Given the description of an element on the screen output the (x, y) to click on. 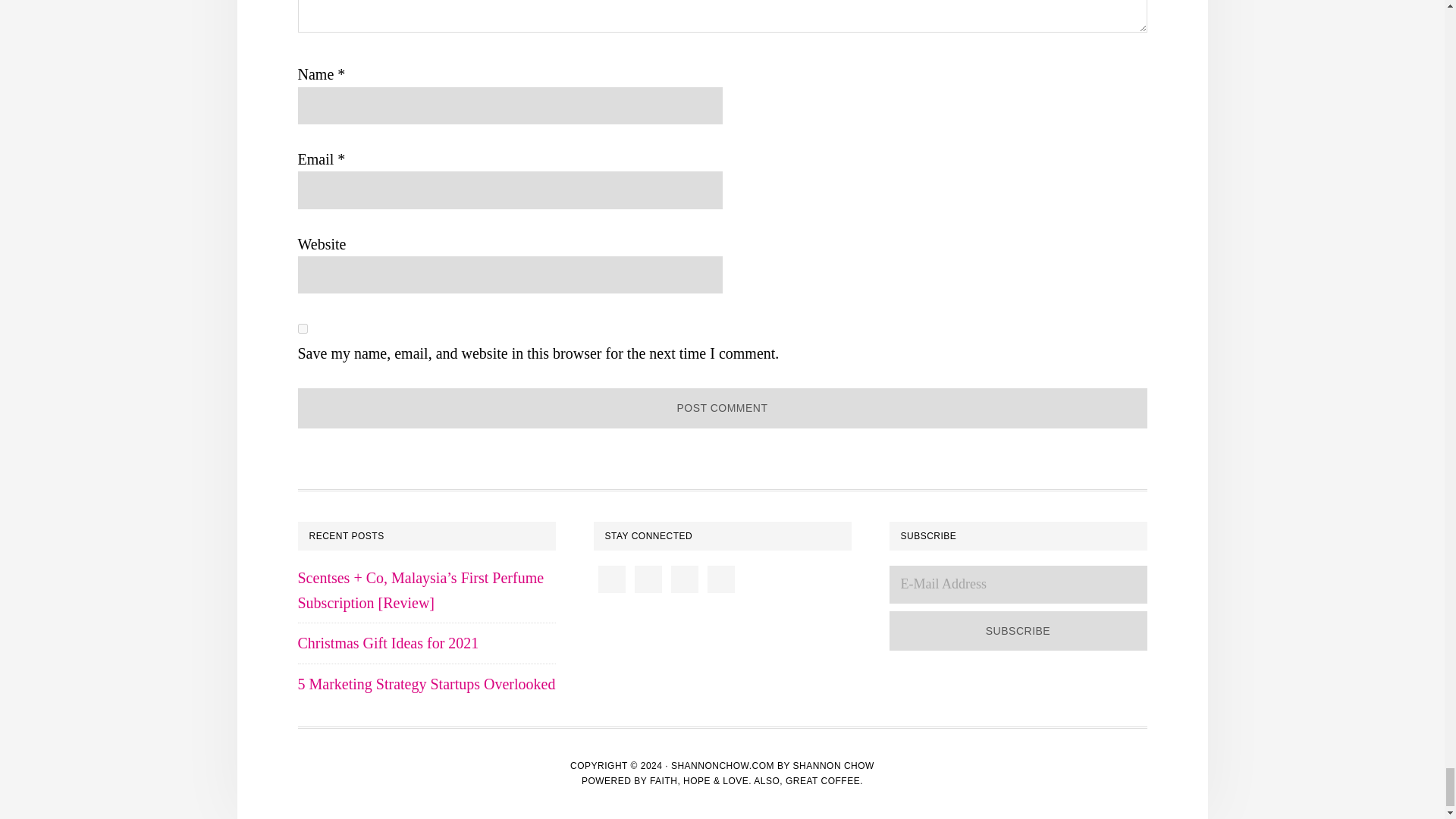
Subscribe (1017, 630)
yes (302, 328)
Post Comment (722, 408)
